Given the description of an element on the screen output the (x, y) to click on. 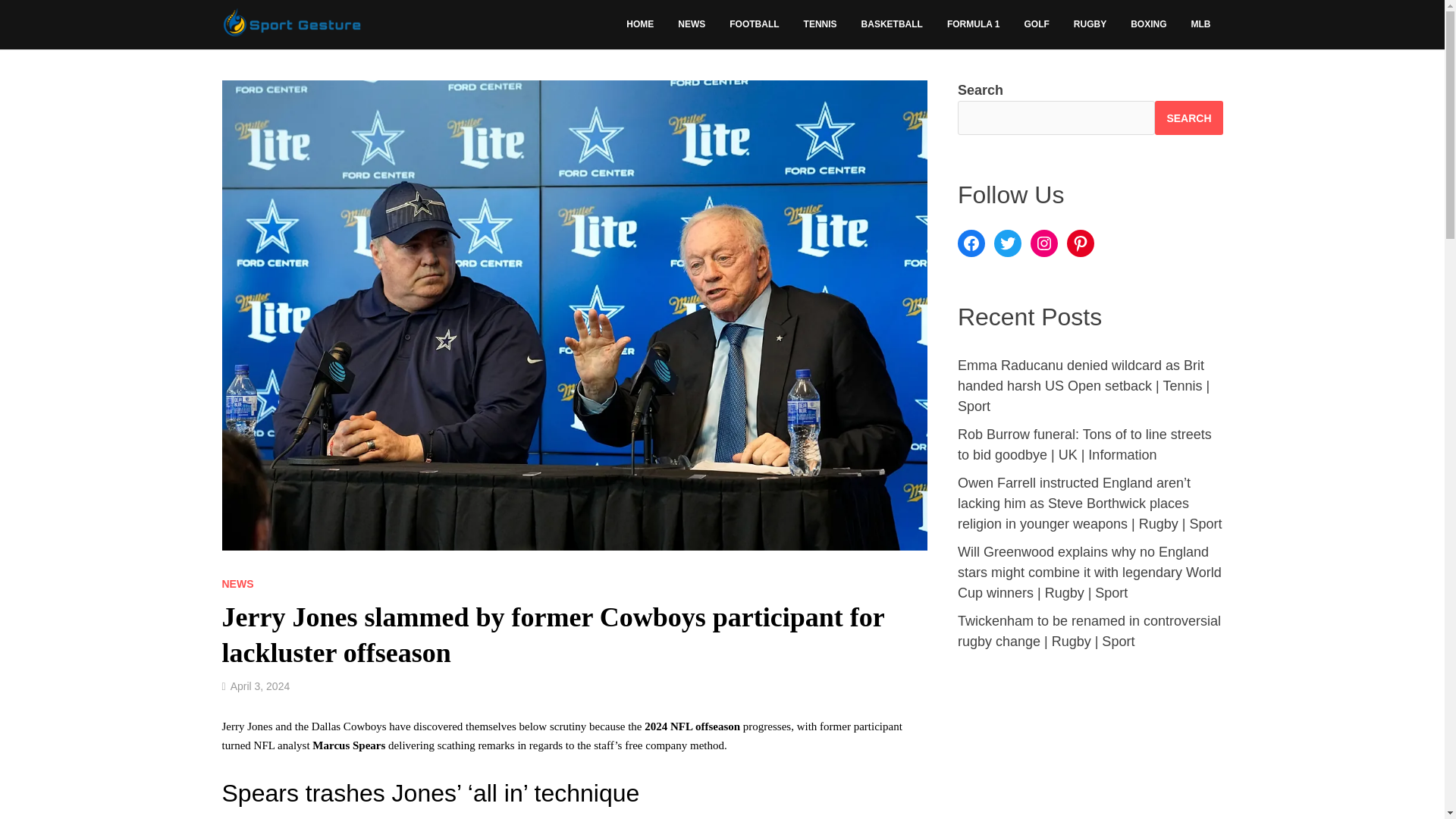
April 3, 2024 (259, 686)
BASKETBALL (891, 24)
NEWS (691, 24)
NEWS (237, 583)
MLB (1200, 24)
HOME (639, 24)
BOXING (1147, 24)
GOLF (1036, 24)
FORMULA 1 (972, 24)
TENNIS (820, 24)
